Given the description of an element on the screen output the (x, y) to click on. 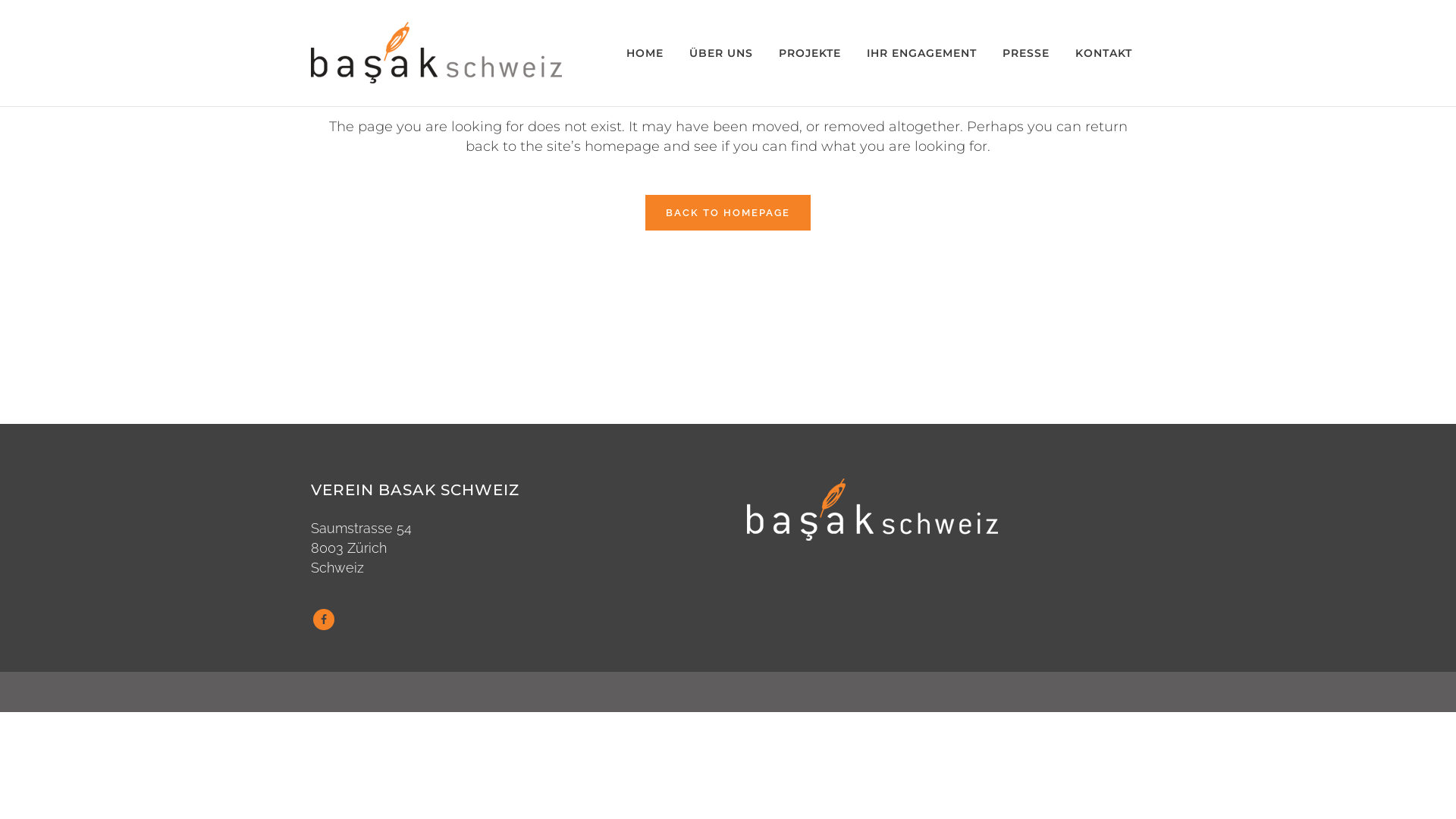
KONTAKT Element type: text (1103, 53)
BACK TO HOMEPAGE Element type: text (727, 212)
IHR ENGAGEMENT Element type: text (921, 53)
PRESSE Element type: text (1025, 53)
PROJEKTE Element type: text (809, 53)
HOME Element type: text (644, 53)
